Given the description of an element on the screen output the (x, y) to click on. 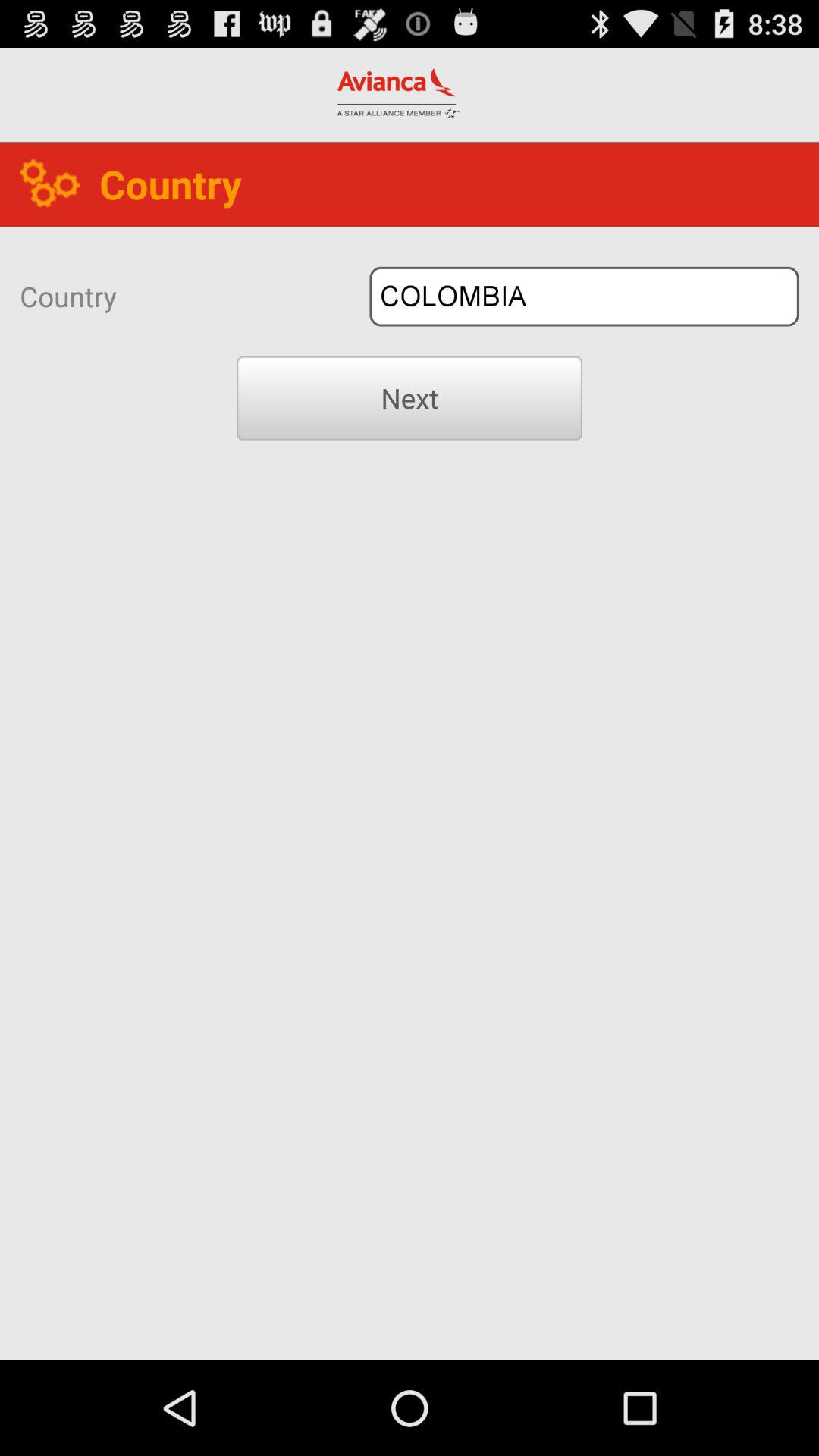
turn off item above next (584, 296)
